Given the description of an element on the screen output the (x, y) to click on. 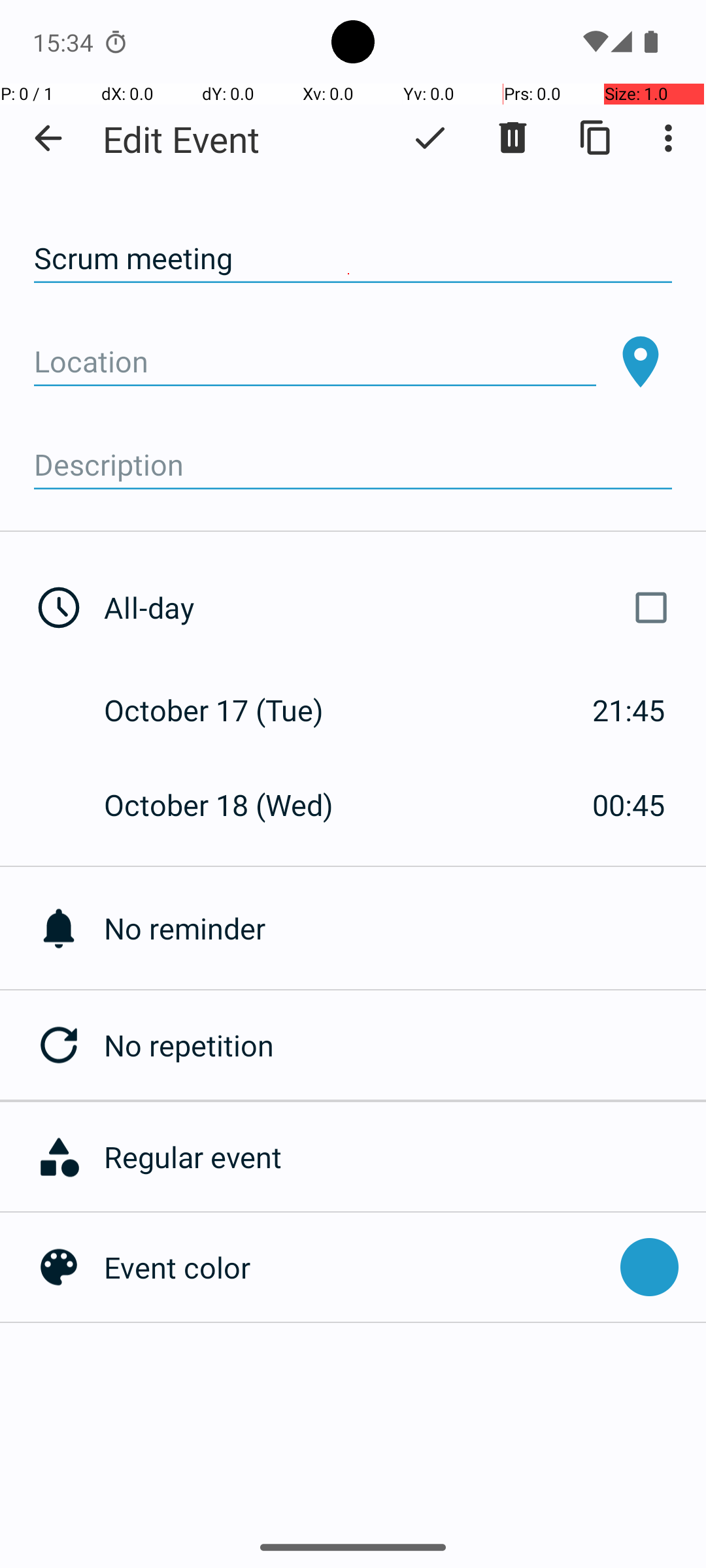
Scrum meeting Element type: android.widget.EditText (352, 258)
21:45 Element type: android.widget.TextView (628, 709)
October 18 (Wed) Element type: android.widget.TextView (232, 804)
00:45 Element type: android.widget.TextView (628, 804)
